Given the description of an element on the screen output the (x, y) to click on. 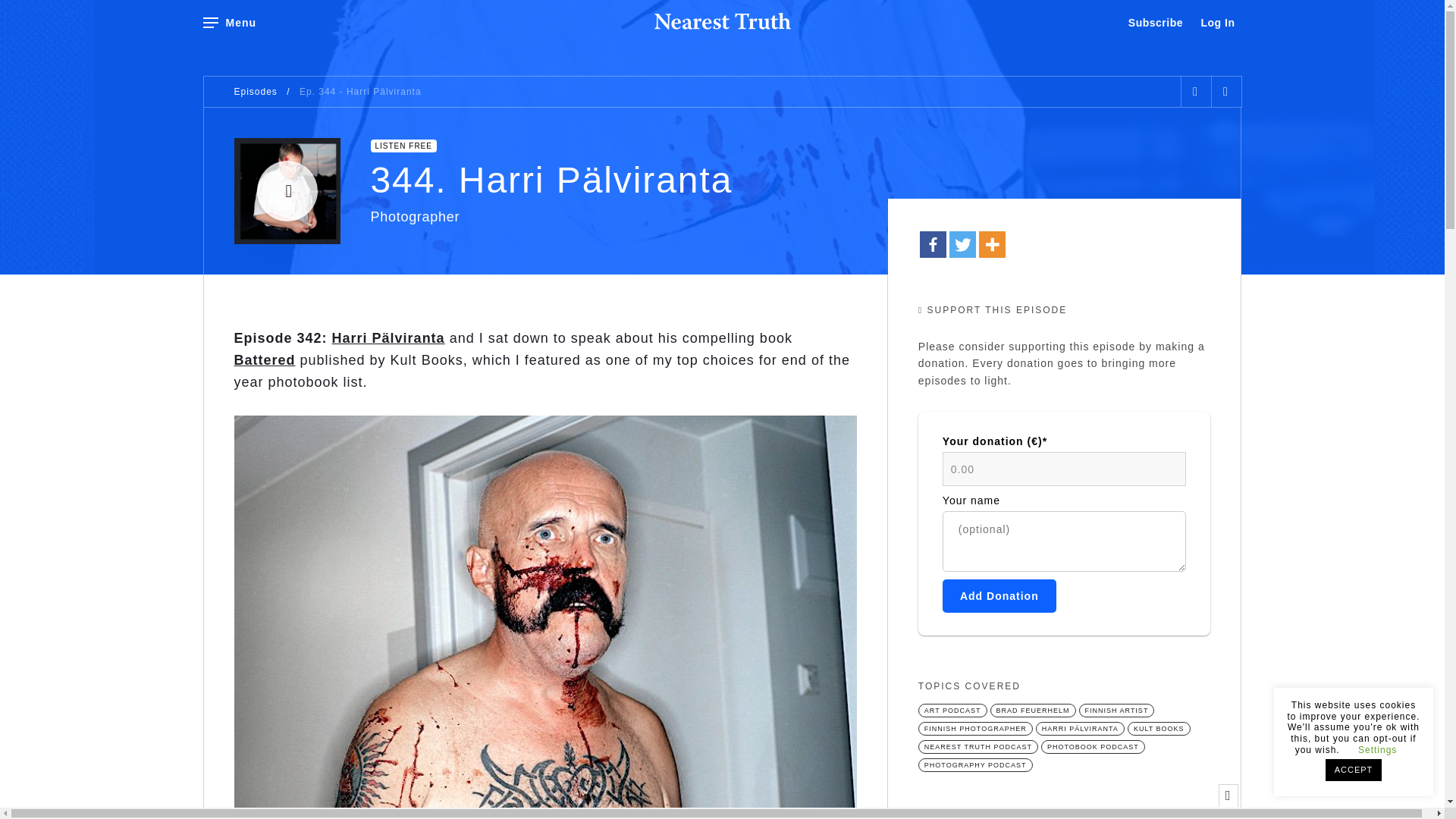
FINNISH ARTIST (1116, 710)
Battered (263, 359)
Add Donation (999, 595)
NEAREST TRUTH PODCAST (978, 746)
ART PODCAST (952, 710)
KULT BOOKS (1158, 728)
Episodes (254, 91)
Twitter (962, 243)
Subscribe (1155, 22)
PHOTOBOOK PODCAST (1092, 746)
Facebook (933, 243)
Log In (1217, 22)
FINNISH PHOTOGRAPHER (975, 728)
BRAD FEUERHELM (1032, 710)
More (992, 243)
